Given the description of an element on the screen output the (x, y) to click on. 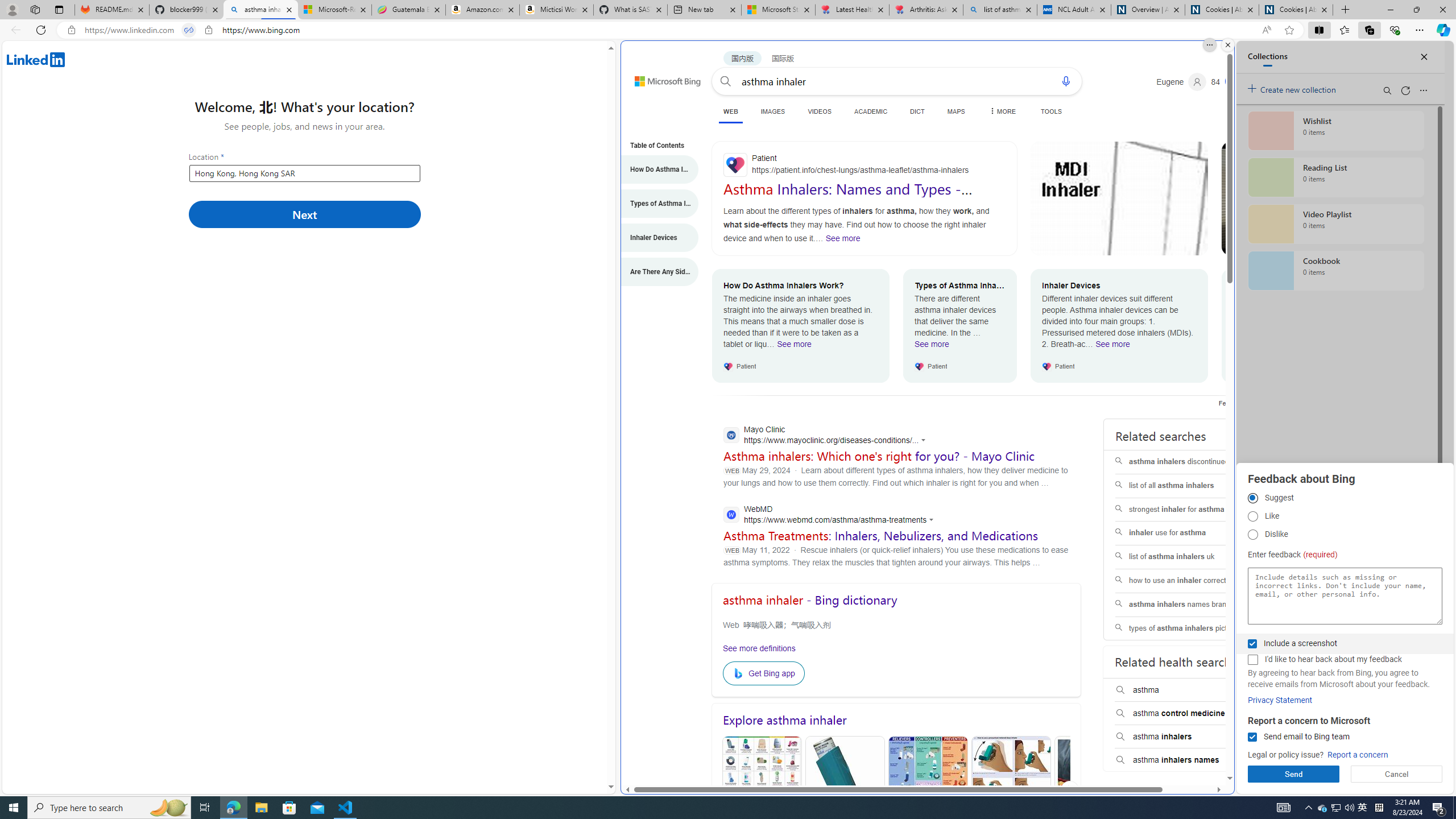
WEB (730, 111)
asthma inhalers names brands (1187, 604)
asthma control medicine (1187, 713)
Asthma Inhalers: Names and Types - Patient (847, 196)
How Do Asthma Inhalers Work? (654, 169)
VIDEOS (820, 111)
TOOLS (1050, 111)
asthma inhalers names brands (1187, 604)
